Given the description of an element on the screen output the (x, y) to click on. 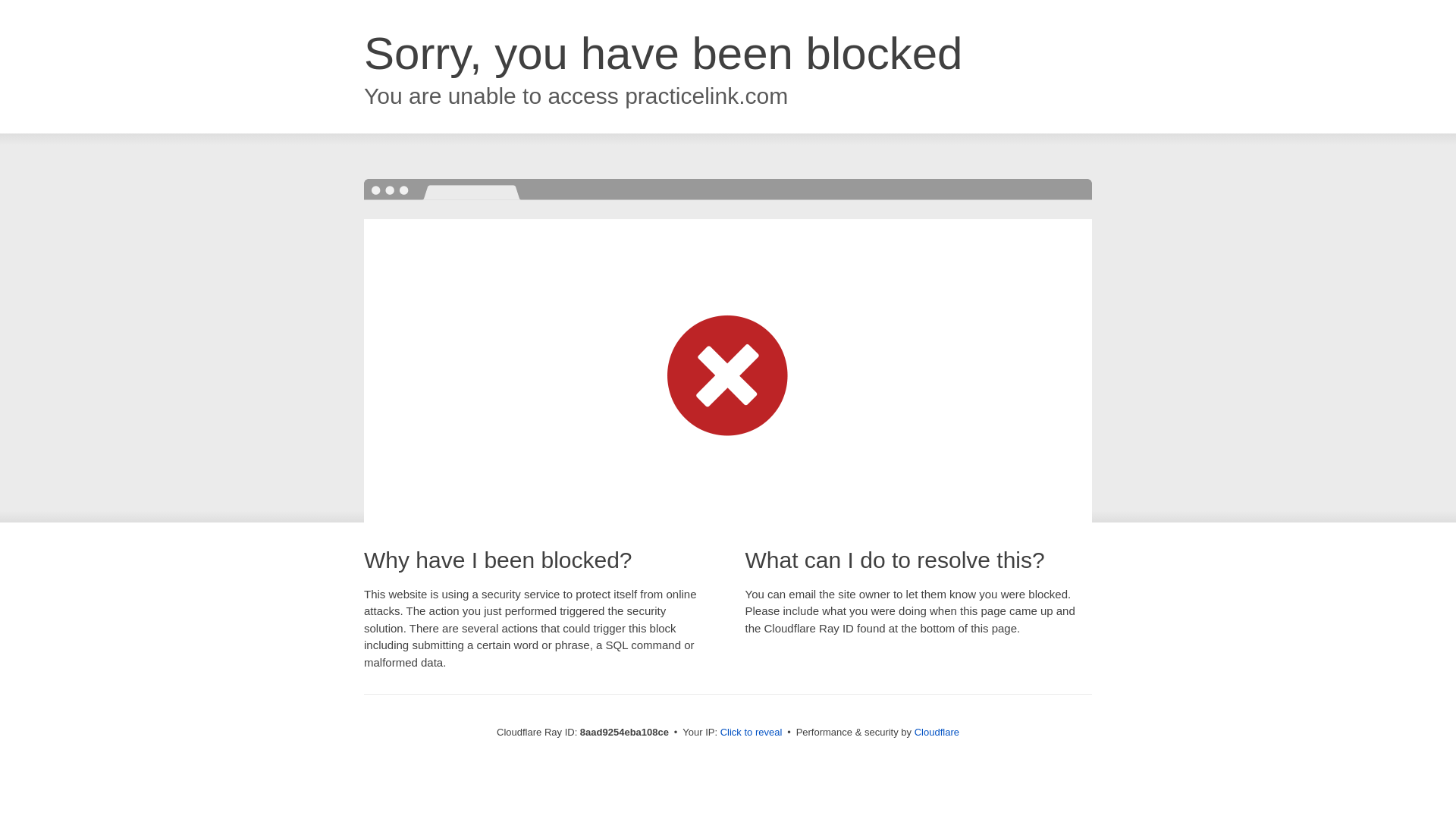
Cloudflare (936, 731)
Click to reveal (751, 732)
